Given the description of an element on the screen output the (x, y) to click on. 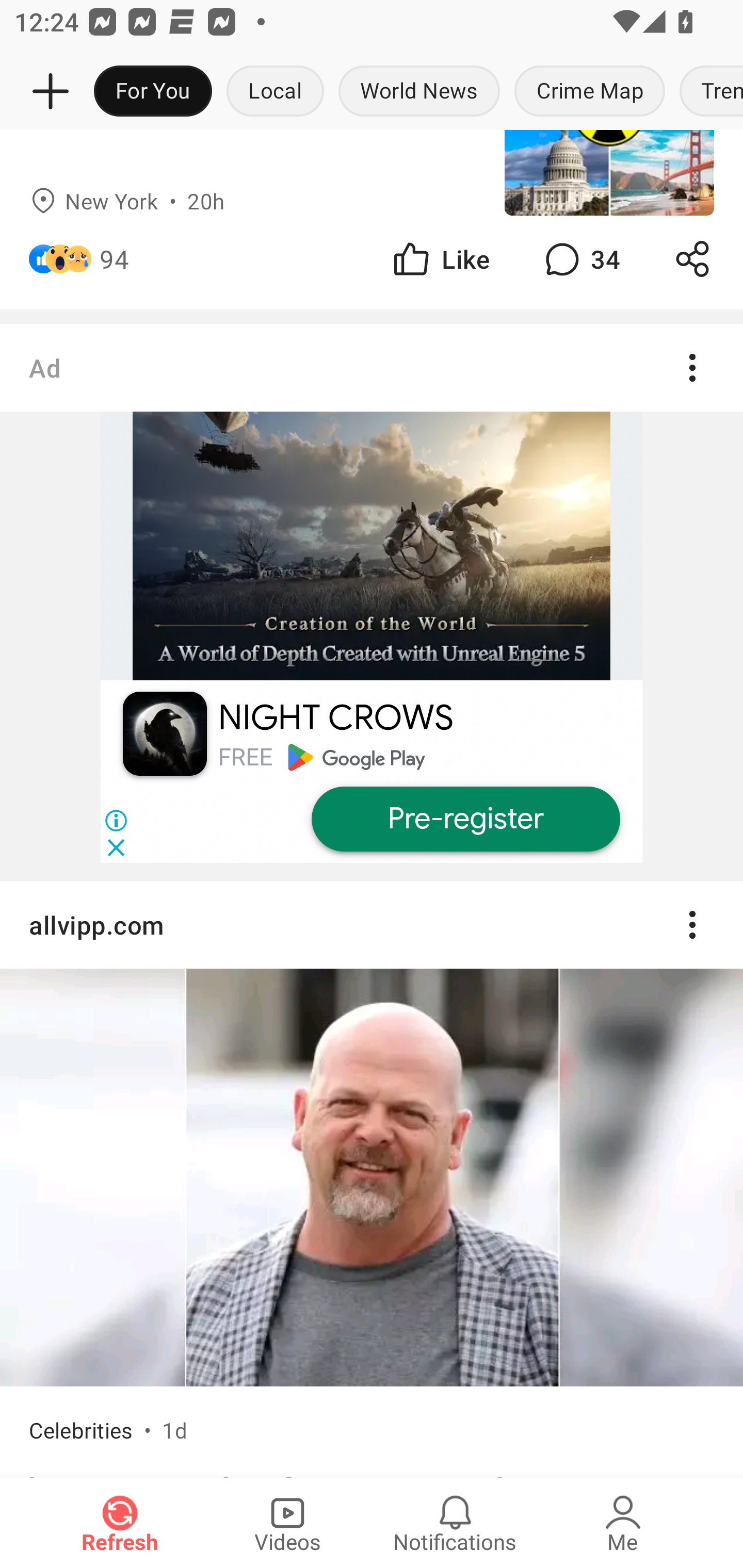
For You (152, 91)
Local (275, 91)
World News (419, 91)
Crime Map (589, 91)
94 (114, 259)
Like (439, 259)
34 (579, 259)
NIGHT CROWS (335, 717)
FREE (245, 757)
Pre-register (464, 818)
allvipp.com (371, 925)
Videos (287, 1522)
Notifications (455, 1522)
Me (622, 1522)
